Given the description of an element on the screen output the (x, y) to click on. 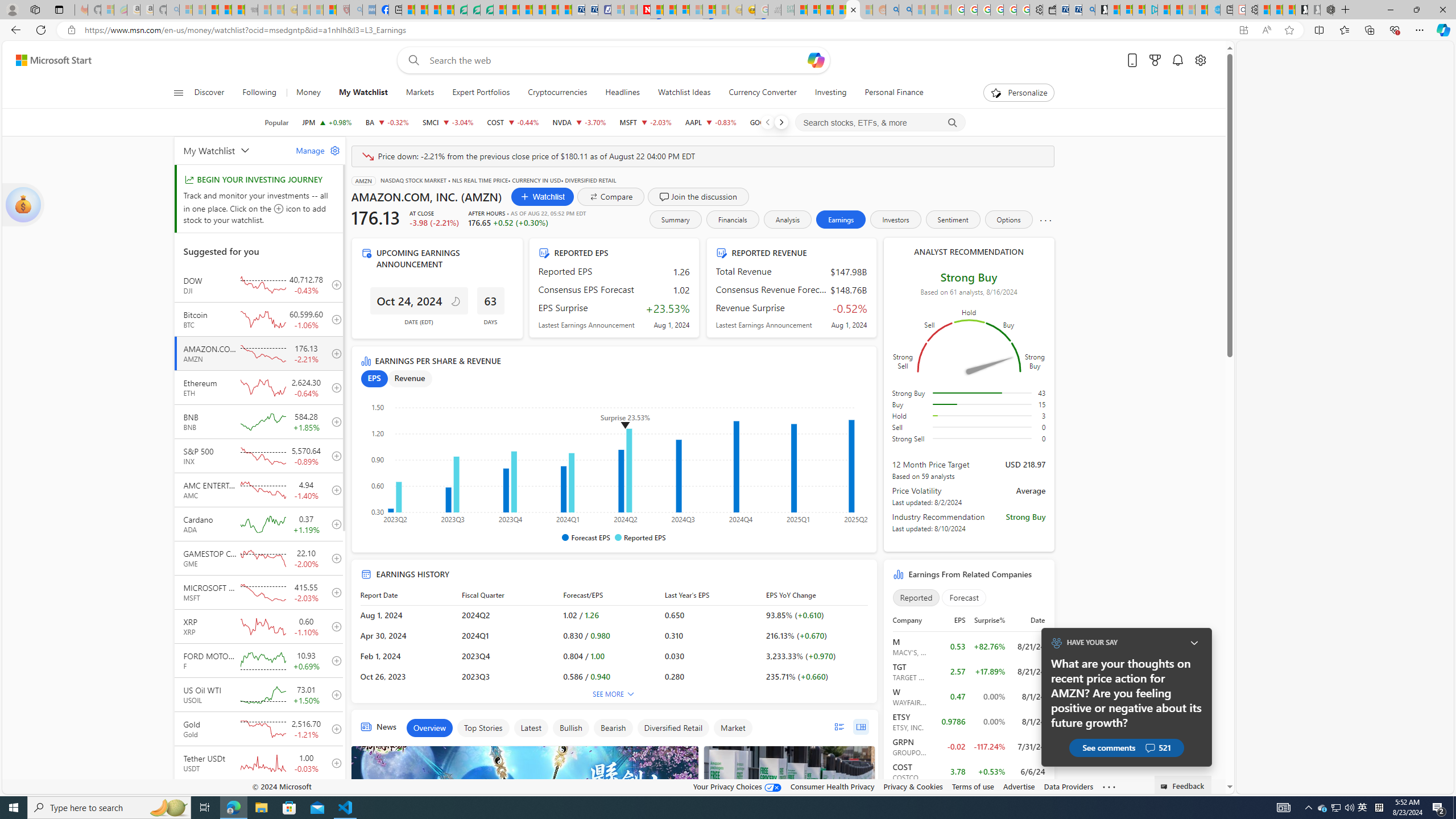
Play Free Online Games | Games from Microsoft Start (1301, 9)
Trusted Community Engagement and Contributions | Guidelines (656, 9)
Nordace - Nordace Siena Is Not An Ordinary Backpack (1327, 9)
Open settings (1199, 60)
AdChoices (689, 752)
Forecast (963, 597)
Earnings (841, 219)
Investing (830, 92)
